Given the description of an element on the screen output the (x, y) to click on. 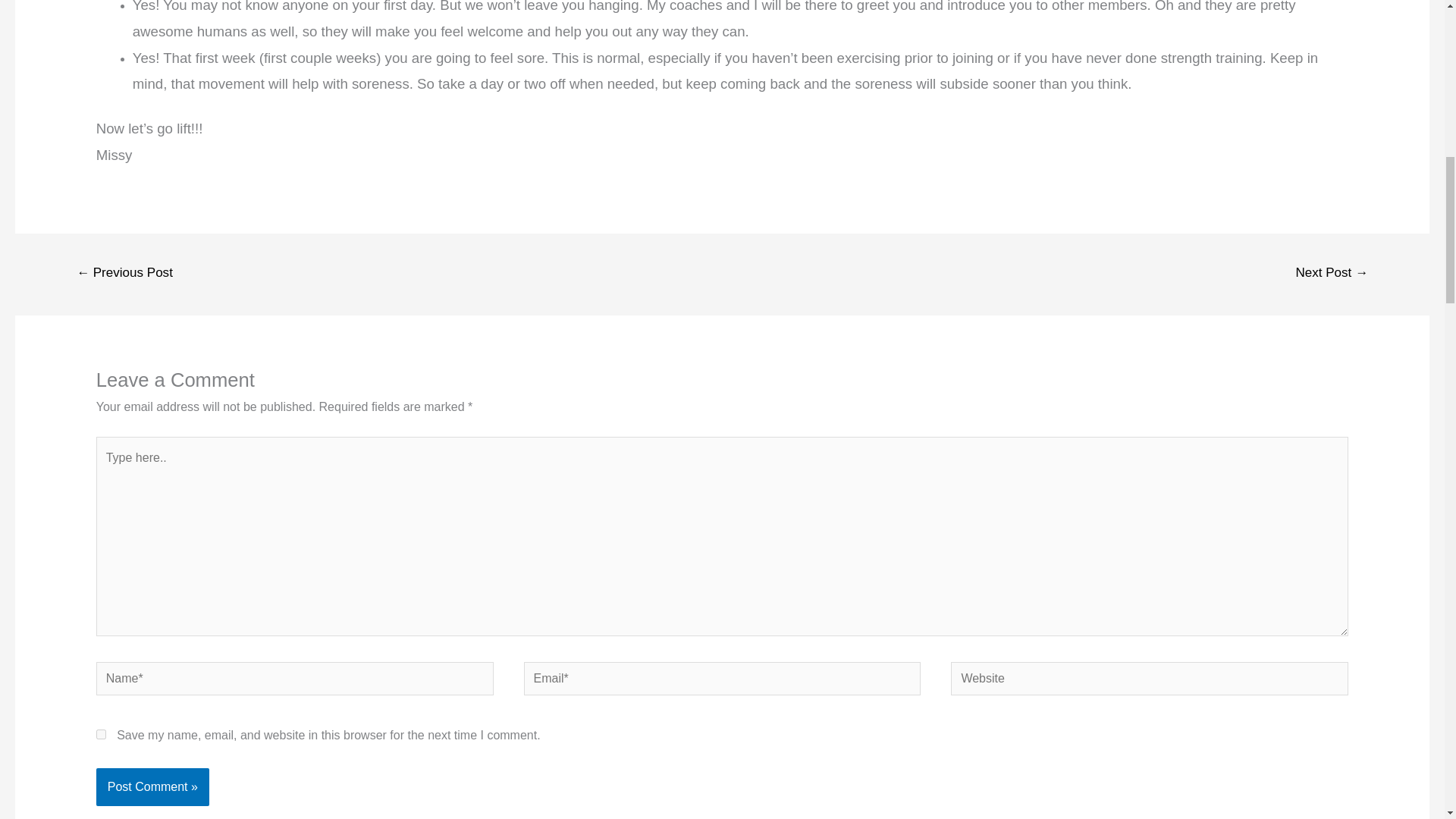
yes (101, 734)
